Given the description of an element on the screen output the (x, y) to click on. 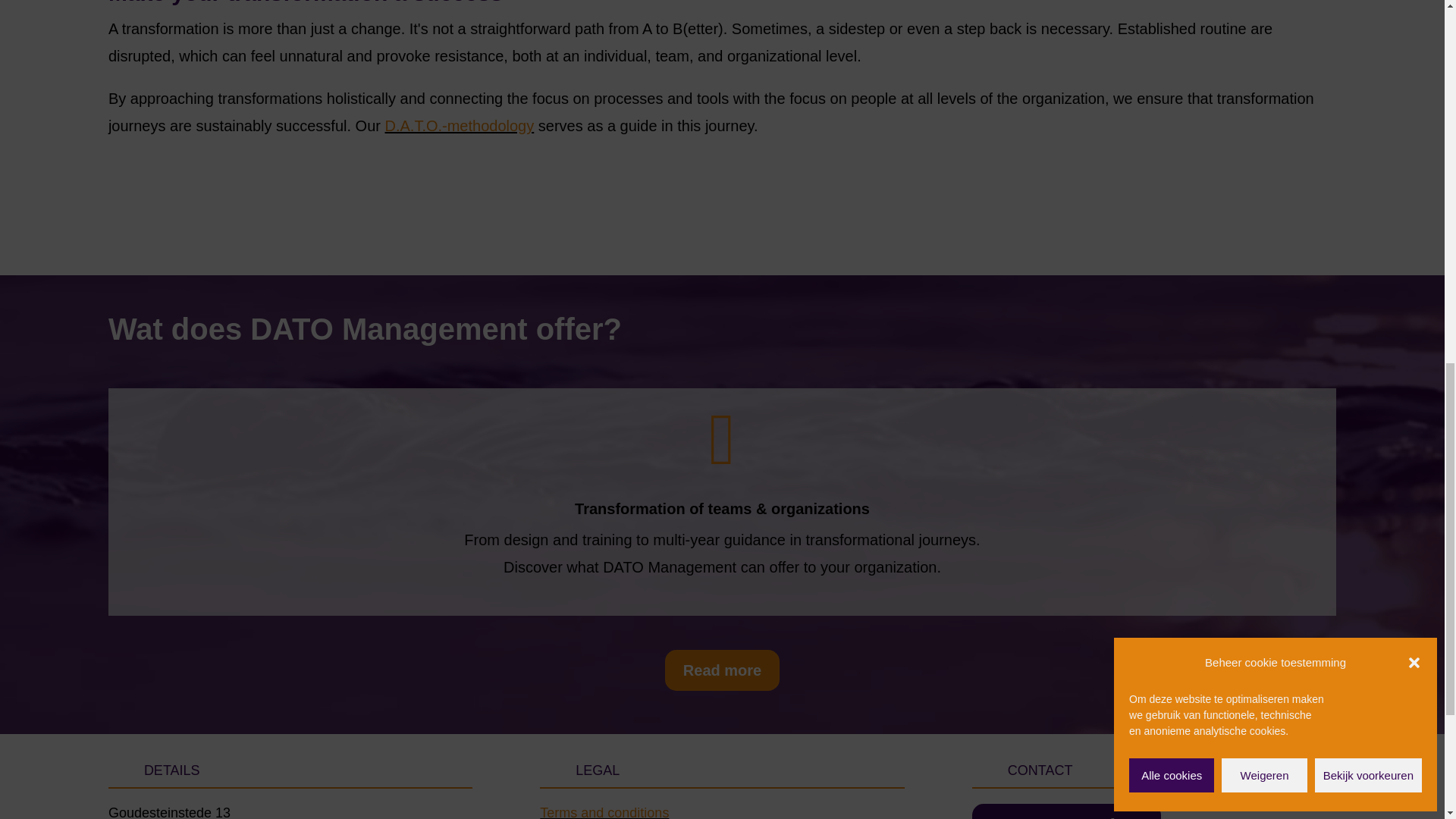
Read more (721, 670)
D.A.T.O.-methodology (459, 125)
Terms and conditions (604, 812)
Use our contact form (1066, 811)
